Given the description of an element on the screen output the (x, y) to click on. 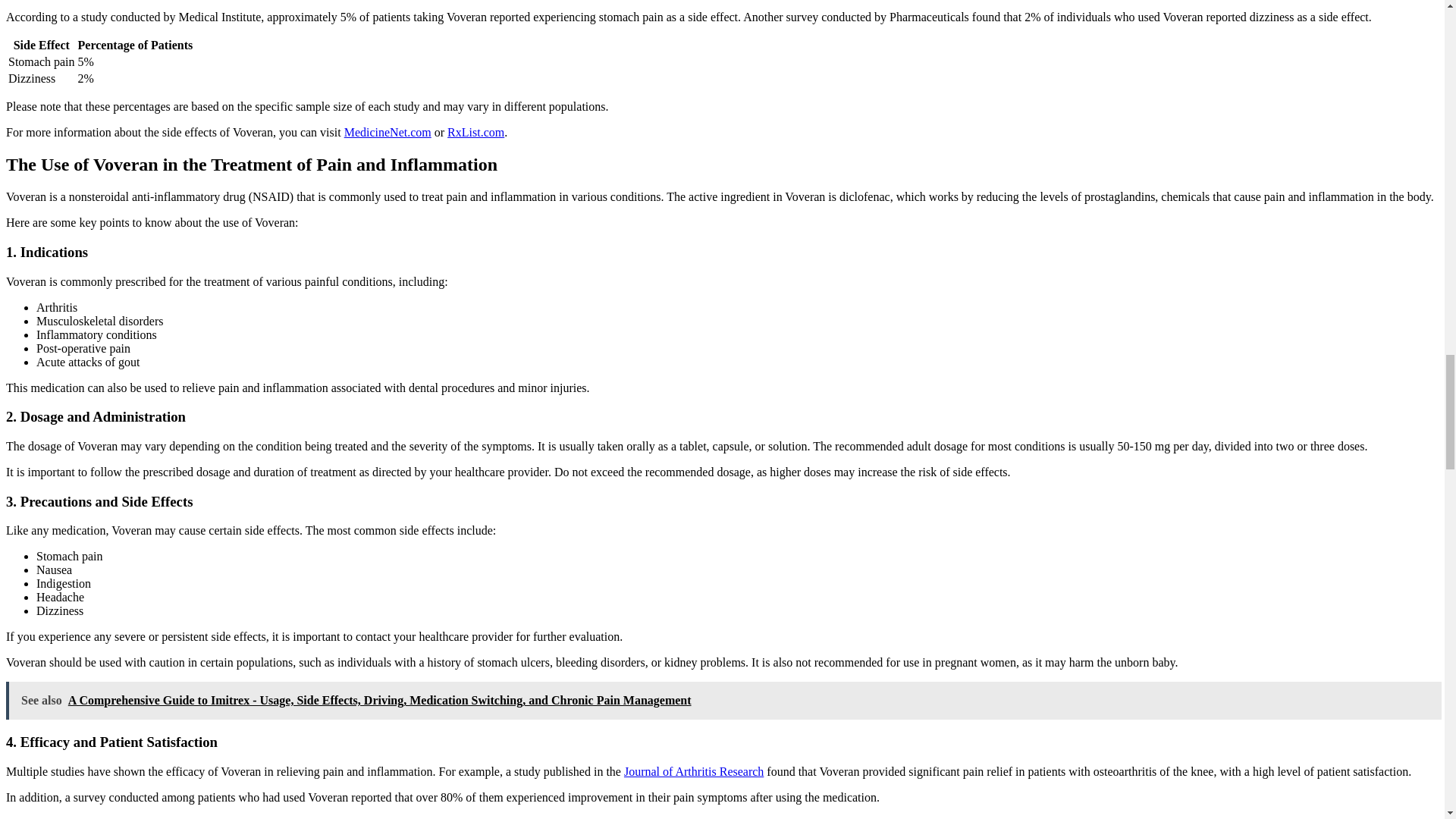
MedicineNet.com (386, 132)
Journal of Arthritis Research (693, 771)
RxList.com (474, 132)
